Given the description of an element on the screen output the (x, y) to click on. 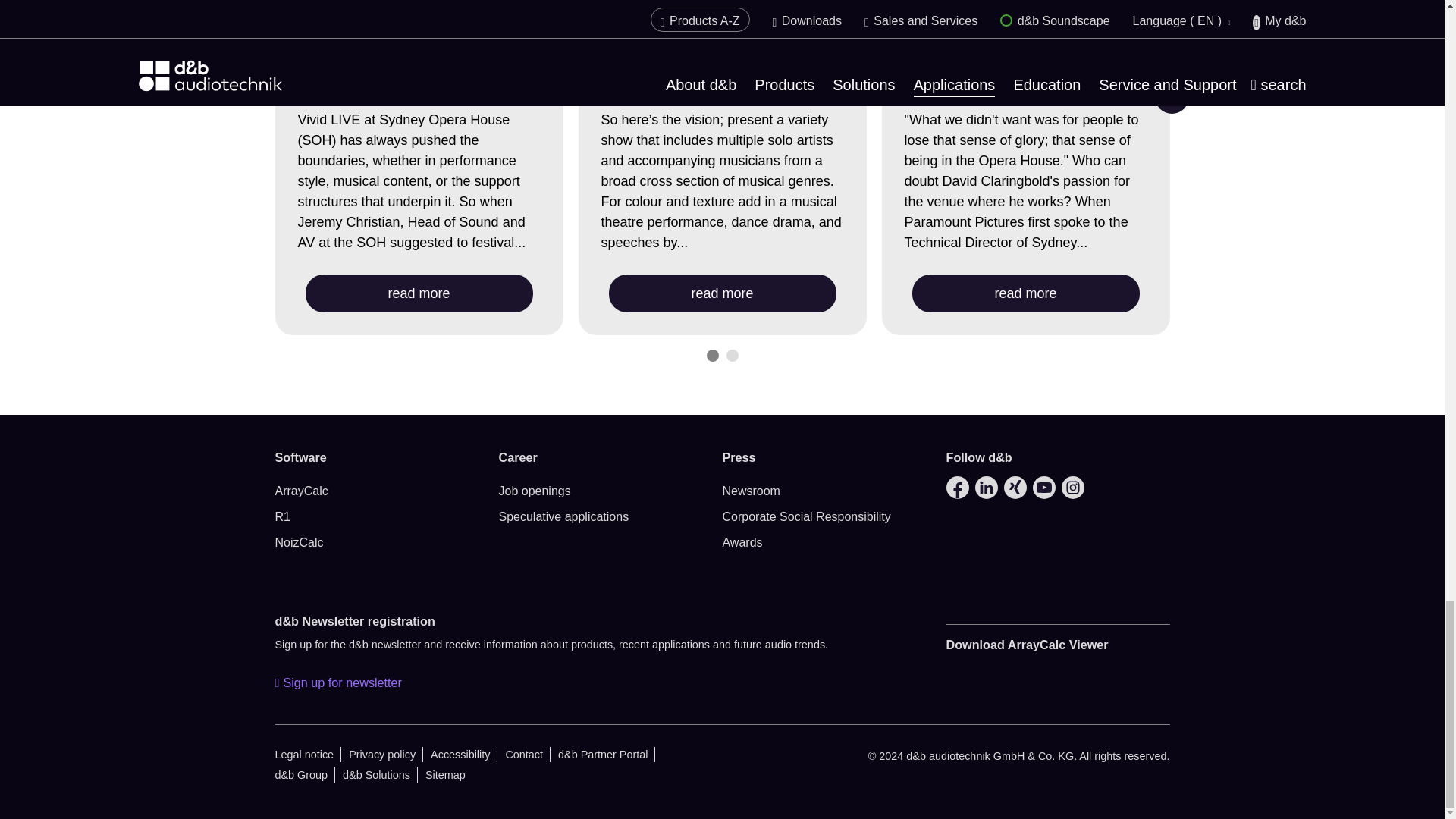
Sydney Opera House celebrates 40th anniversary (720, 73)
read more (418, 293)
